Given the description of an element on the screen output the (x, y) to click on. 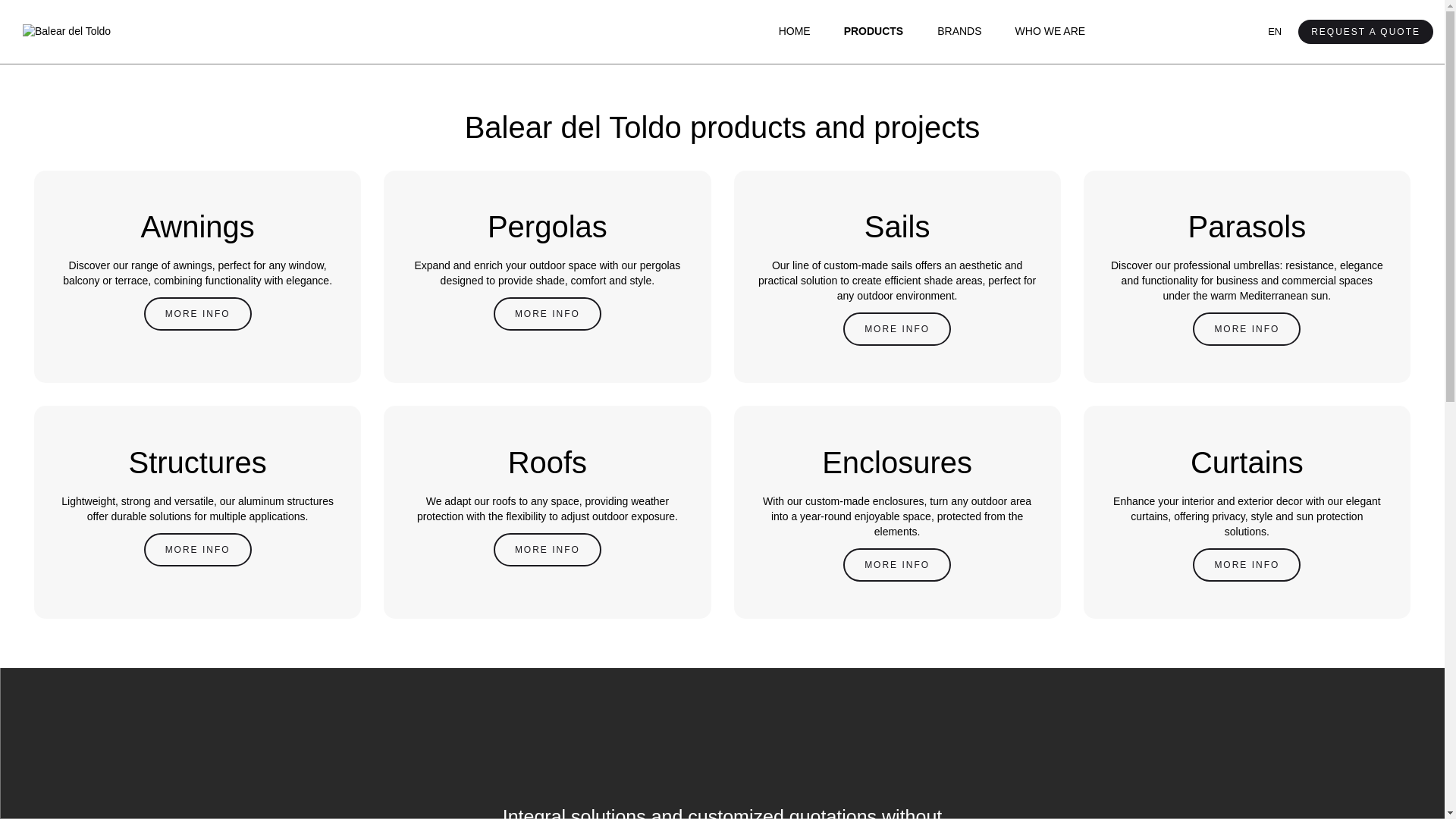
WHO WE ARE (1050, 31)
HOME (794, 31)
REQUEST A QUOTE (1365, 31)
Balear del Toldo (66, 31)
PRODUCTS (873, 31)
BRANDS (959, 31)
EN (1272, 31)
